Given the description of an element on the screen output the (x, y) to click on. 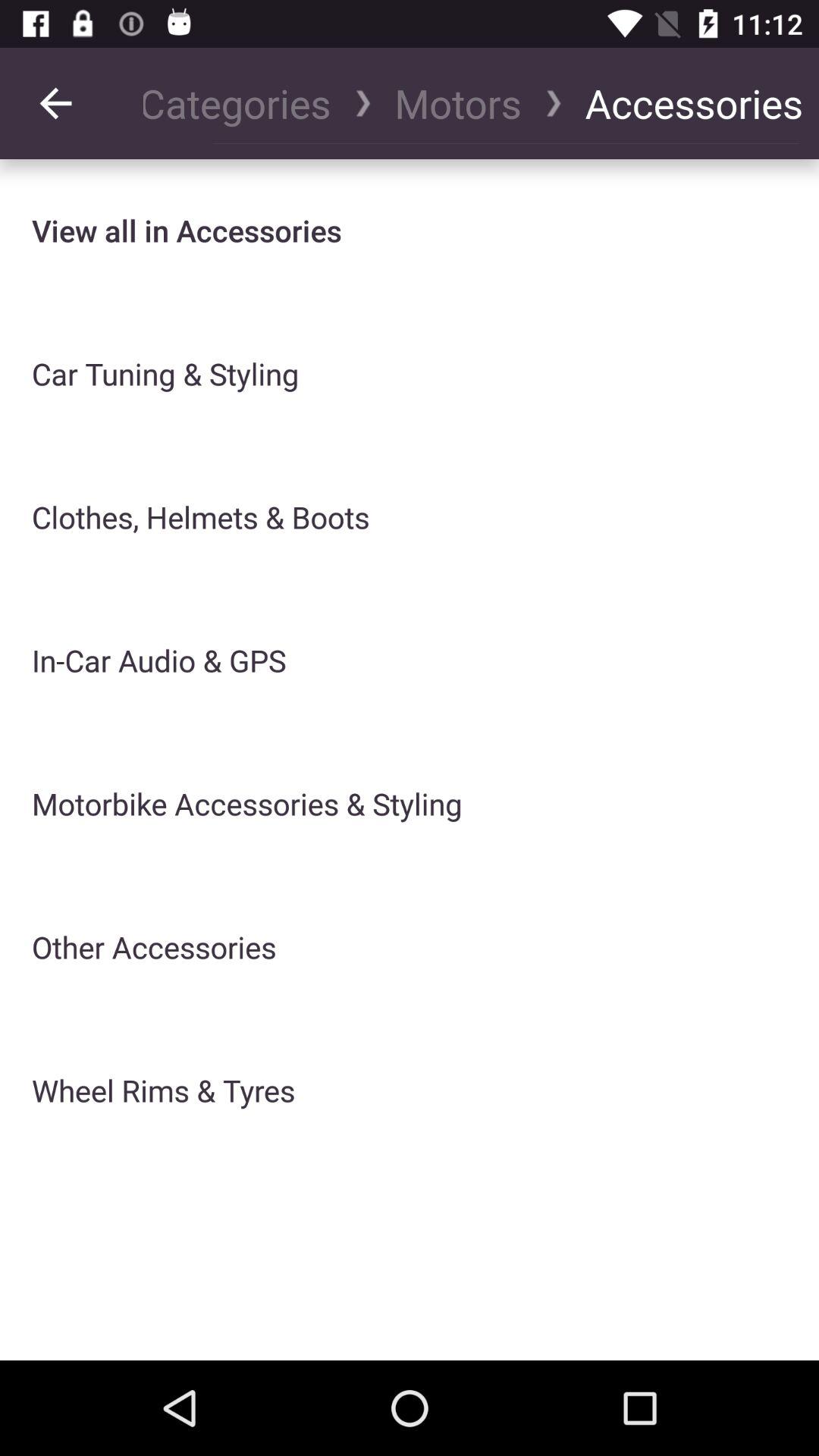
choose the icon above the view all in icon (244, 103)
